Given the description of an element on the screen output the (x, y) to click on. 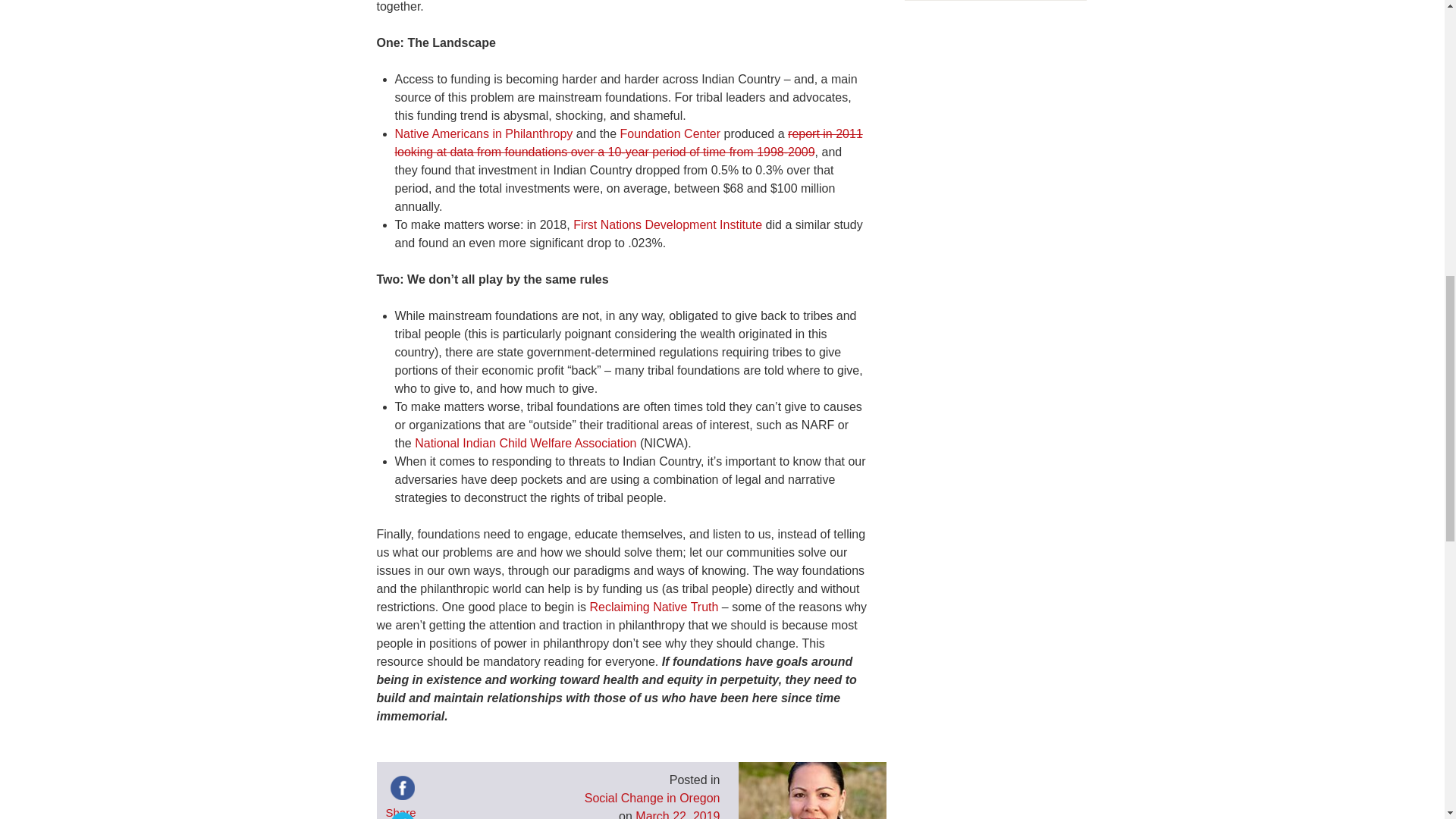
Foundation Center (670, 133)
National Indian Child Welfare Association (525, 442)
facebook (402, 787)
Native Americans in Philanthropy (483, 133)
Reclaiming Native Truth (654, 606)
Social Change in Oregon (652, 797)
March 22, 2019 (676, 814)
First Nations Development Institute (667, 224)
twitter (402, 813)
